Given the description of an element on the screen output the (x, y) to click on. 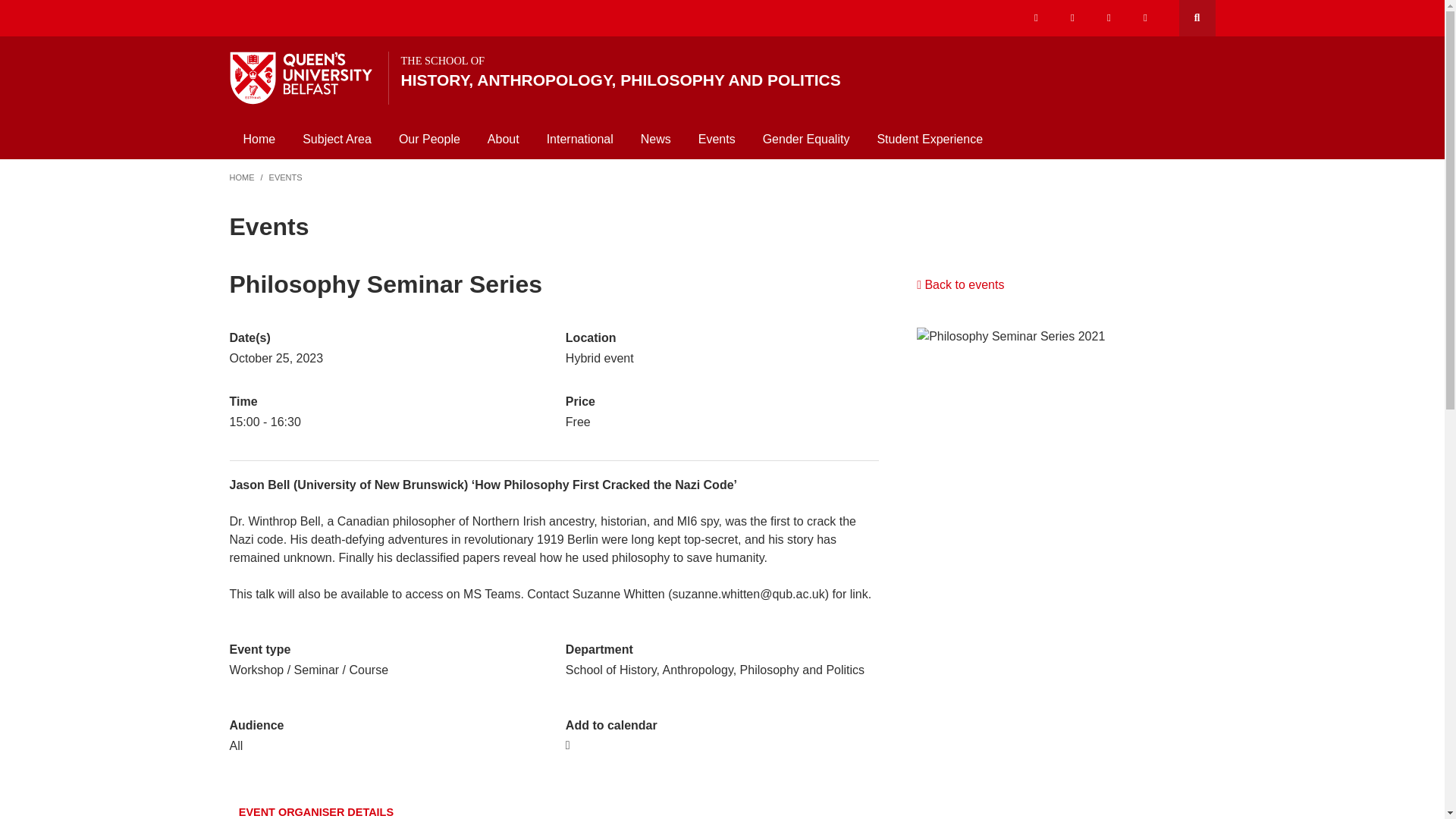
Home (258, 138)
International (579, 138)
Our People (429, 138)
Our linkedin (1144, 18)
Our instagram (1072, 18)
News (655, 138)
Open search drawer (799, 70)
About (1195, 18)
